Given the description of an element on the screen output the (x, y) to click on. 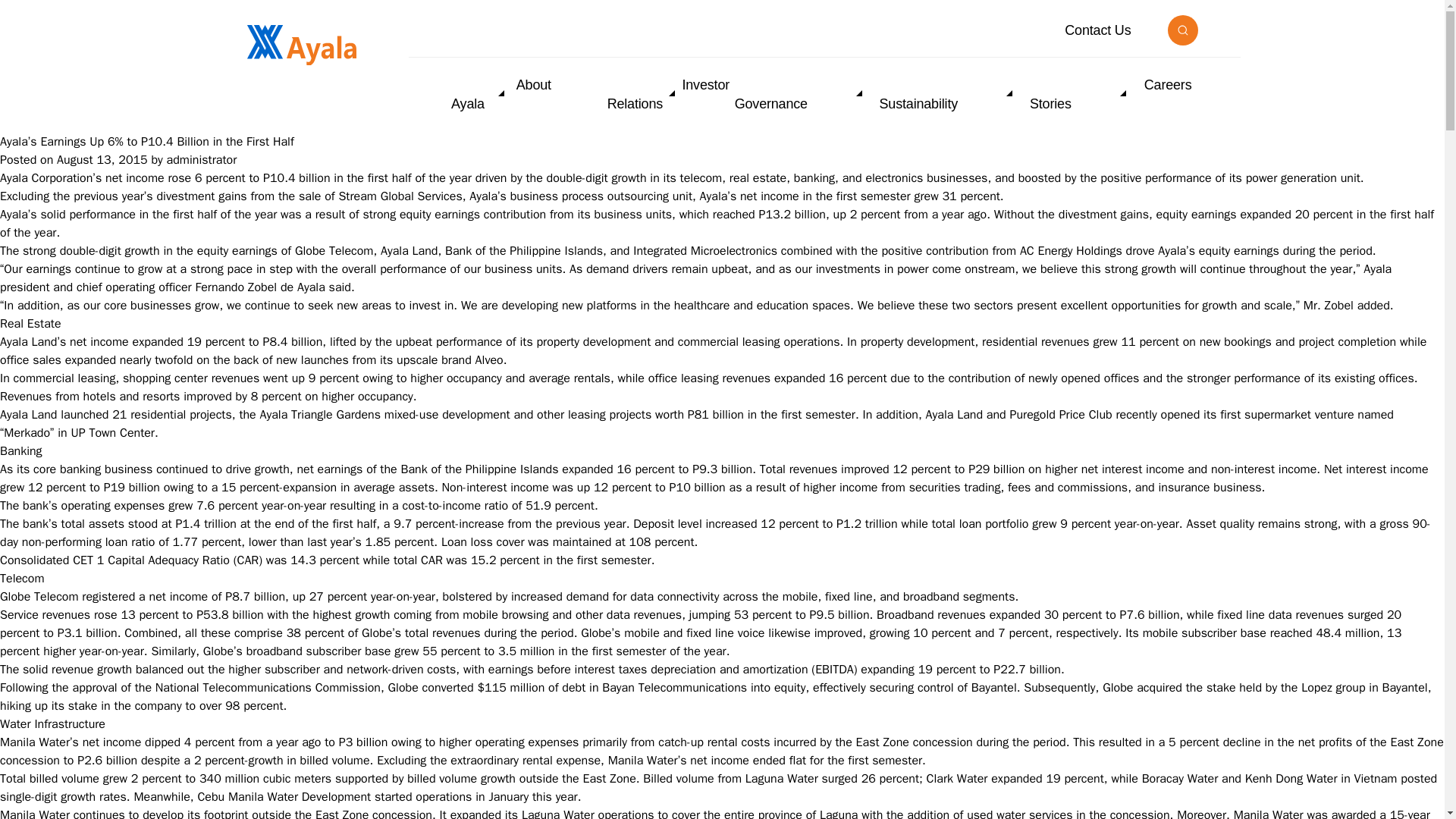
Governance (805, 93)
Contact Us (1097, 29)
Sustainability (952, 93)
Stories (1083, 93)
Investor Relations (668, 93)
Careers (1168, 84)
About Ayala (501, 93)
